Given the description of an element on the screen output the (x, y) to click on. 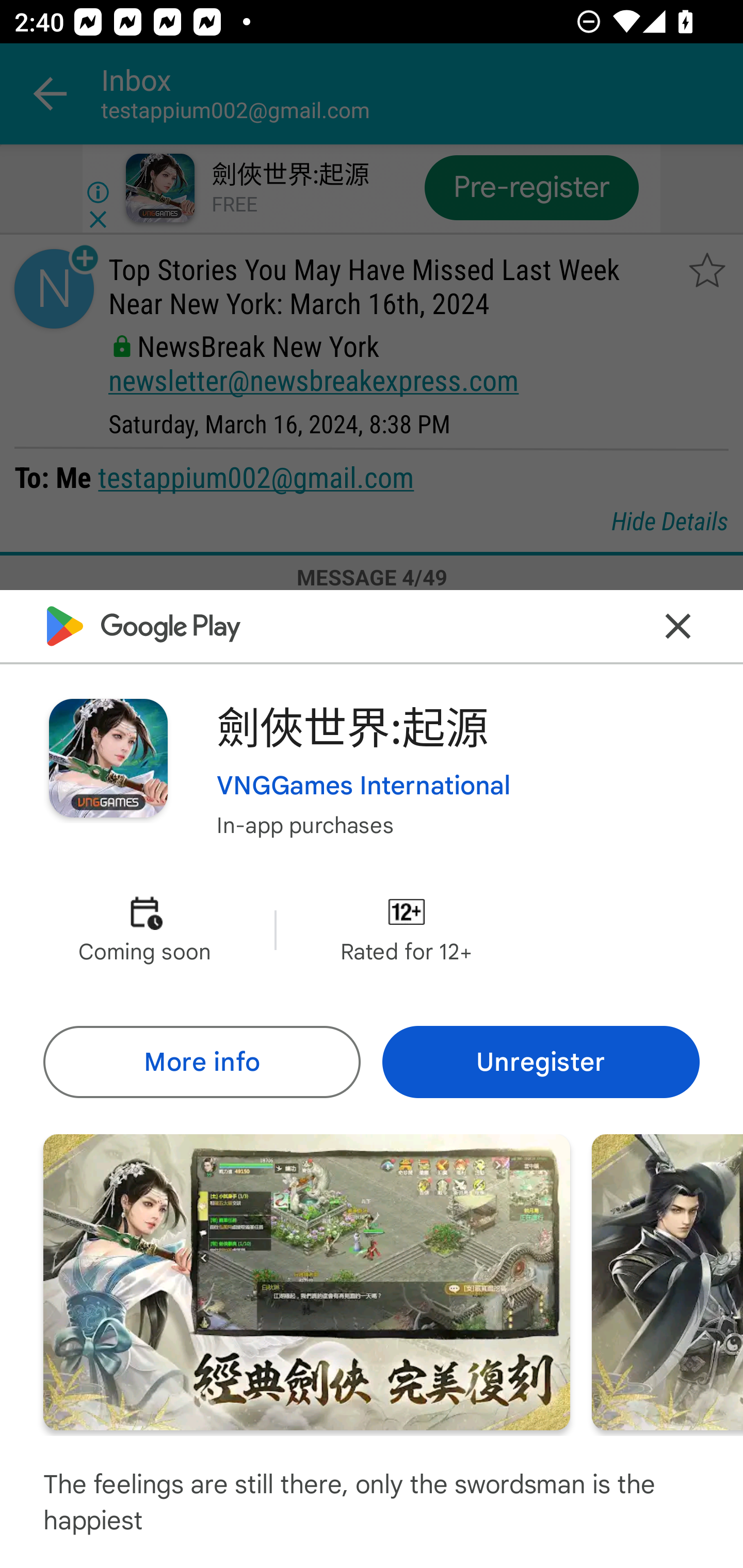
Close (677, 625)
Image of app or game icon for 劍俠世界:起源 (108, 758)
VNGGames International (363, 784)
More info (201, 1061)
Unregister (540, 1061)
Screenshot "1" of "5" (306, 1281)
